Given the description of an element on the screen output the (x, y) to click on. 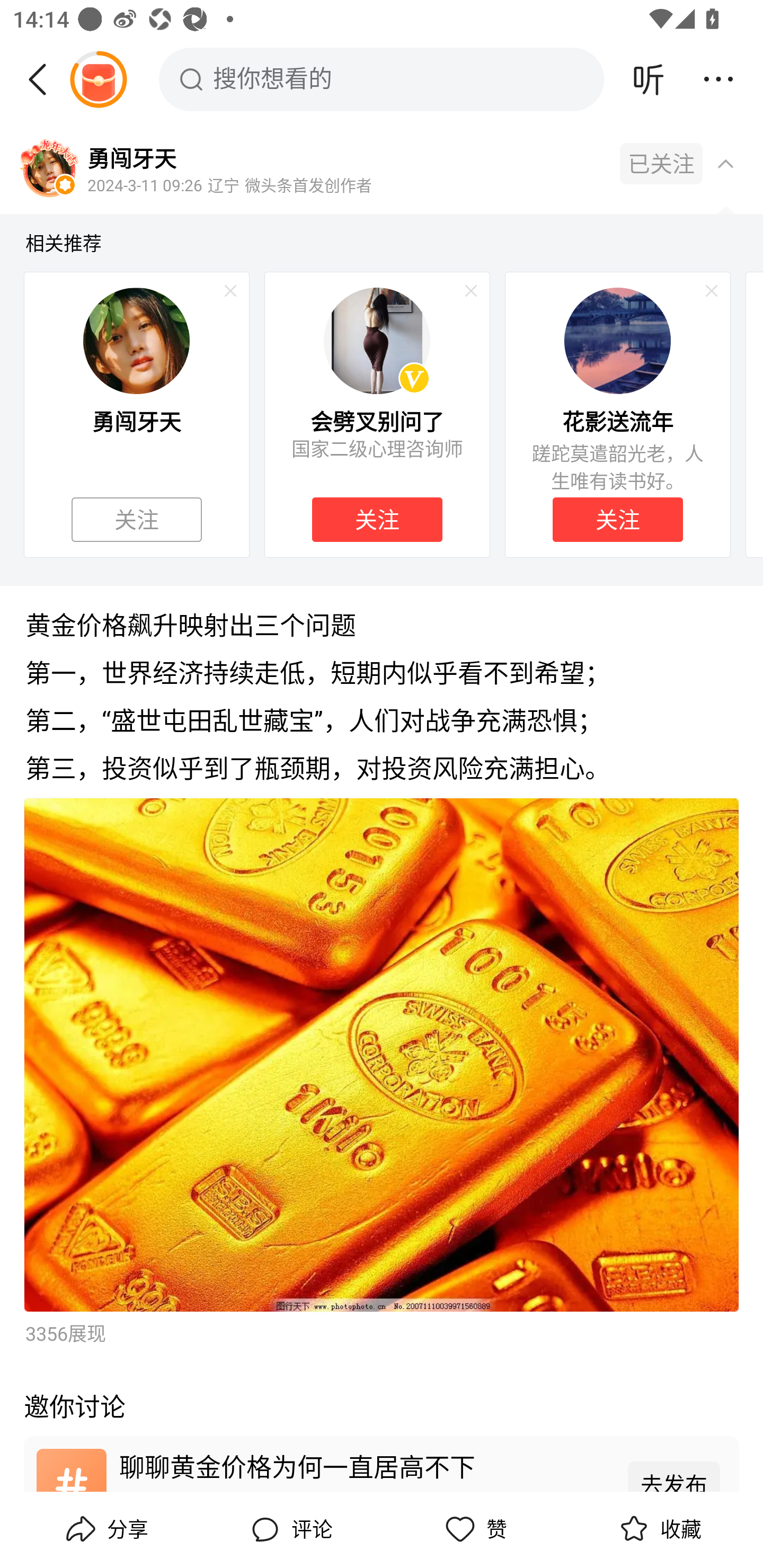
返回 (44, 78)
听头条 (648, 78)
更多操作 (718, 78)
搜你想看的 搜索框，搜你想看的 (381, 79)
阅读赚金币 (98, 79)
勇闯牙天 (131, 157)
已关注 (660, 163)
勇闯牙天头像 (48, 169)
折叠相关作者推荐 (725, 162)
勇闯牙天头像 勇闯牙天 关注 关注 不感兴趣 (136, 414)
不感兴趣 (230, 290)
会劈叉别问了头像 会劈叉别问了 国家二级心理咨询师 关注 关注 不感兴趣 (376, 414)
不感兴趣 (470, 290)
花影送流年头像 花影送流年 蹉跎莫遣韶光老，人生唯有读书好。 关注 关注 不感兴趣 (617, 414)
不感兴趣 (711, 290)
勇闯牙天头像 (136, 339)
会劈叉别问了头像 (376, 339)
花影送流年头像 (617, 339)
关注 (136, 519)
关注 (377, 519)
关注 (617, 519)
内容图片 (381, 1055)
聊聊黄金价格为何一直居高不下:说说你的看法::按钮 (381, 1463)
分享 (104, 1529)
评论, 评论 (288, 1529)
,收藏 收藏 (658, 1529)
